Given the description of an element on the screen output the (x, y) to click on. 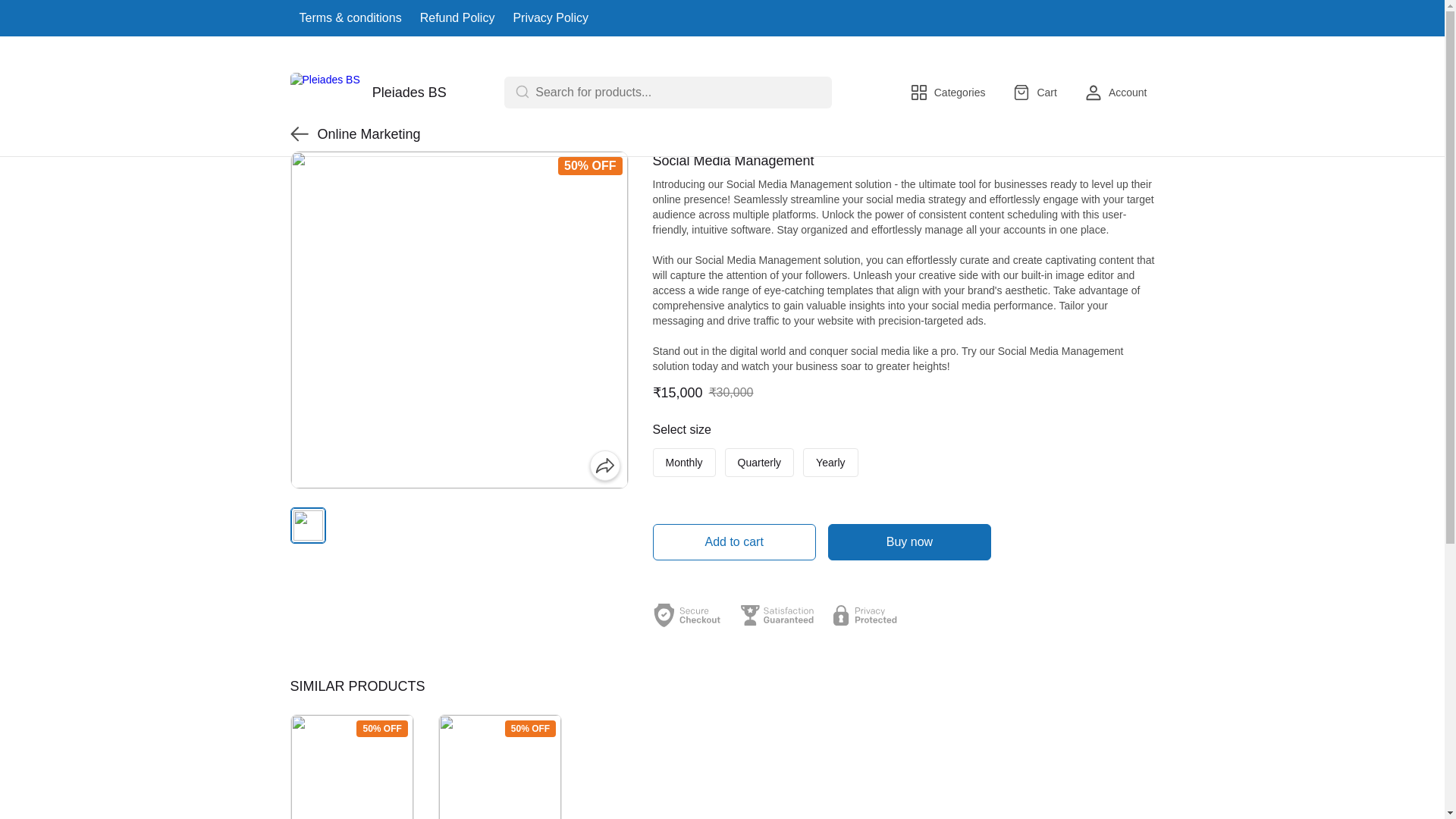
Cart (1034, 92)
Buy now (909, 542)
Quarterly (759, 461)
Pleiades BS (367, 92)
Add to cart (733, 542)
Account (1115, 92)
Monthly (683, 461)
Refund Policy (456, 17)
Yearly (830, 461)
Categories (947, 92)
